Given the description of an element on the screen output the (x, y) to click on. 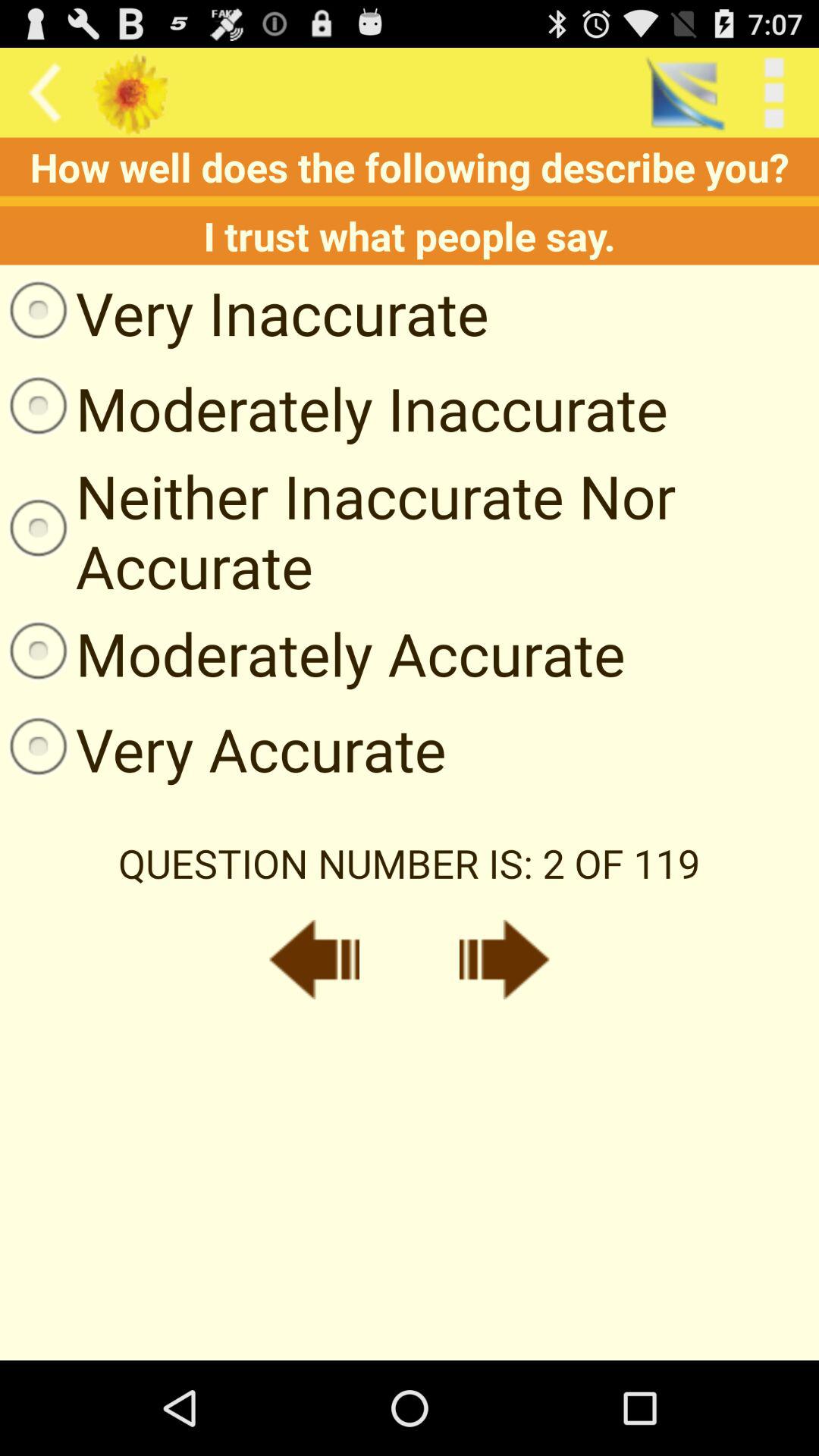
click item on the left (223, 748)
